Given the description of an element on the screen output the (x, y) to click on. 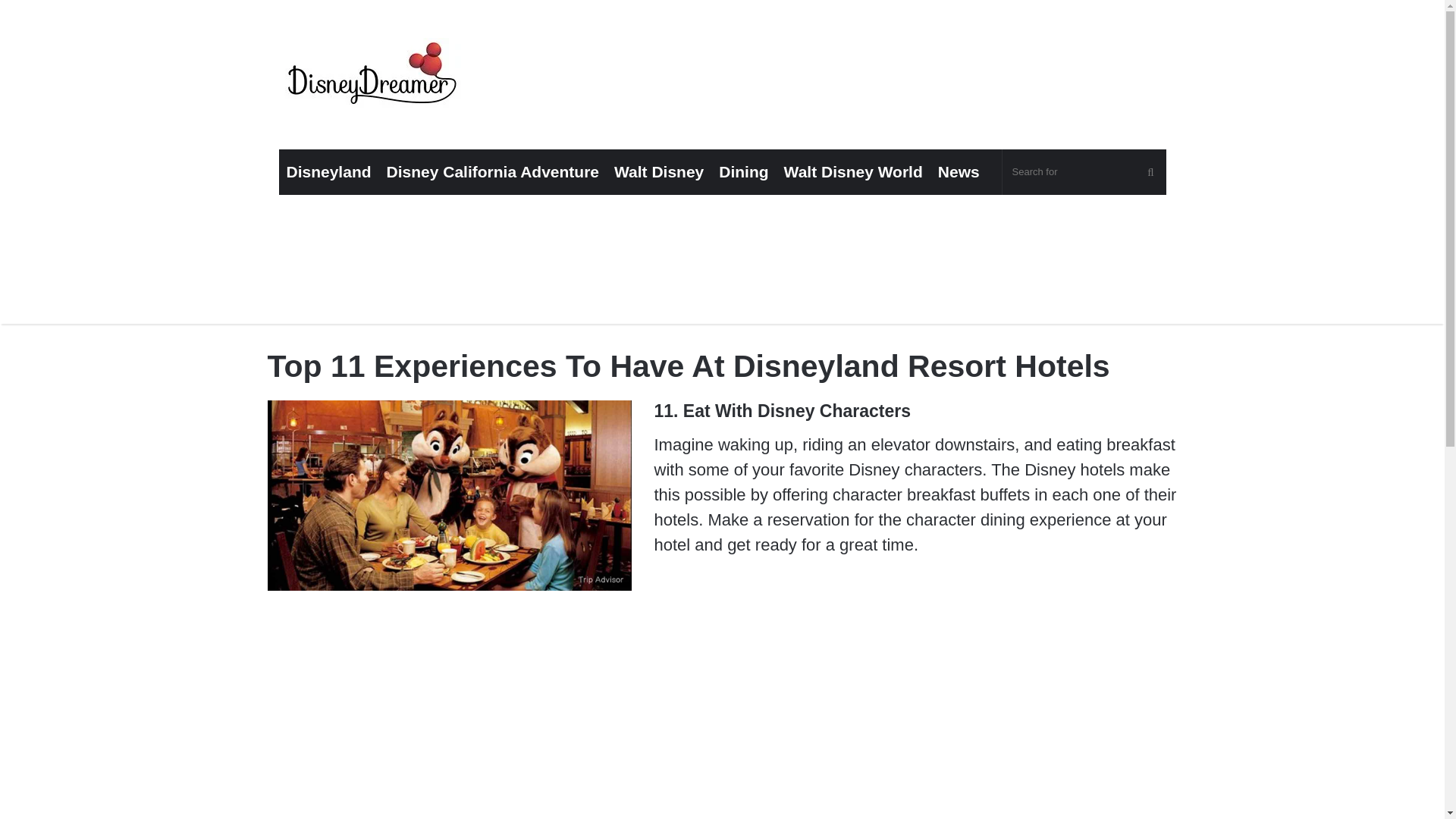
Walt Disney (659, 171)
Search for (1084, 171)
Disney California Adventure (492, 171)
Disneyland (328, 171)
DisneyDreamer.com (373, 77)
News (958, 171)
Walt Disney World (853, 171)
Dining (743, 171)
